Given the description of an element on the screen output the (x, y) to click on. 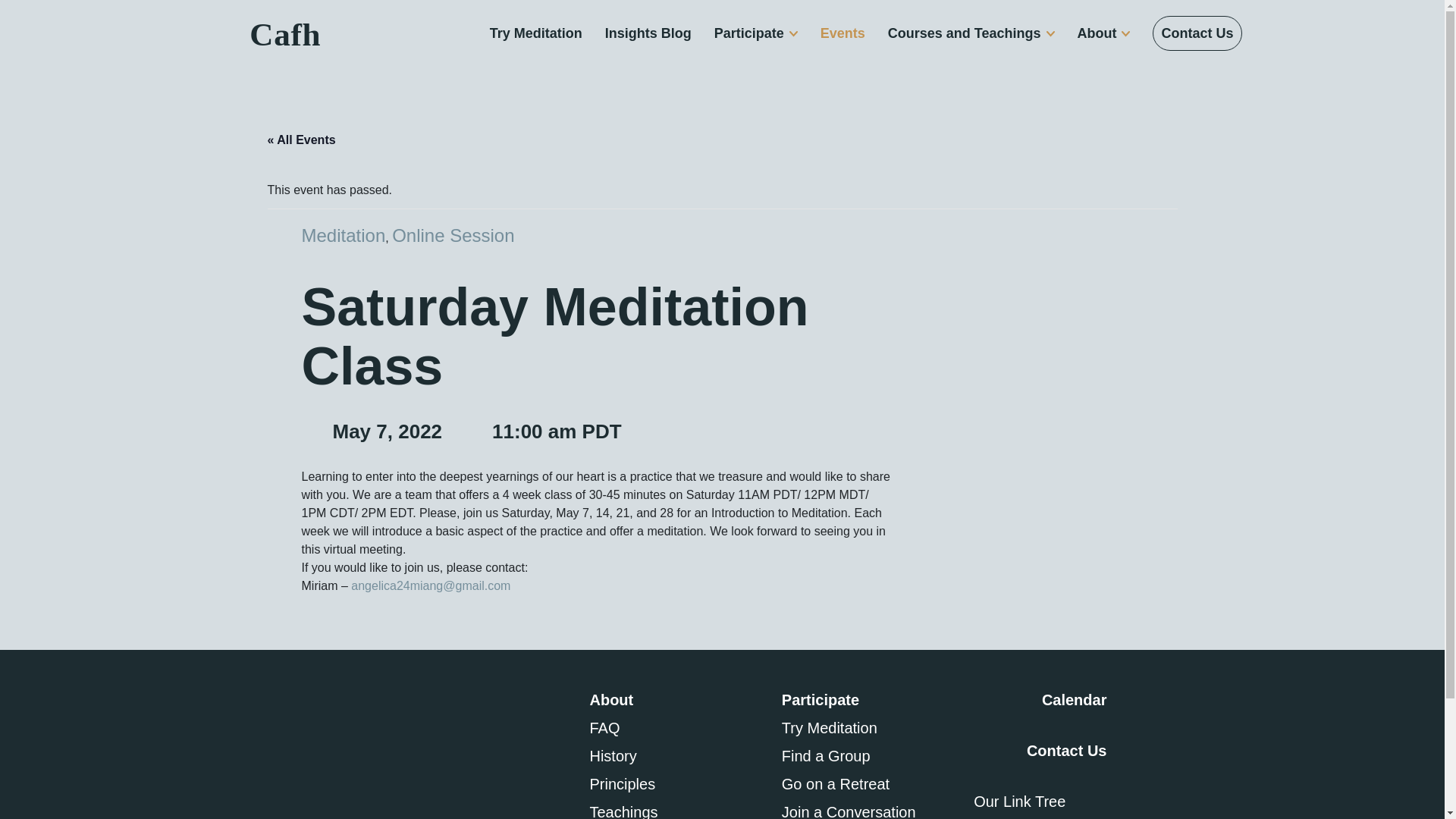
Meditation (343, 235)
FAQ (673, 727)
Insights Blog (648, 33)
Cafh (282, 33)
Try Meditation (535, 33)
Try Meditation (535, 33)
About (1103, 33)
Participate (755, 33)
Courses and Teachings (971, 33)
Participate (865, 699)
Online Session (452, 235)
Find a Group (865, 755)
History (673, 755)
Cafh (282, 33)
Try Meditation (865, 727)
